Given the description of an element on the screen output the (x, y) to click on. 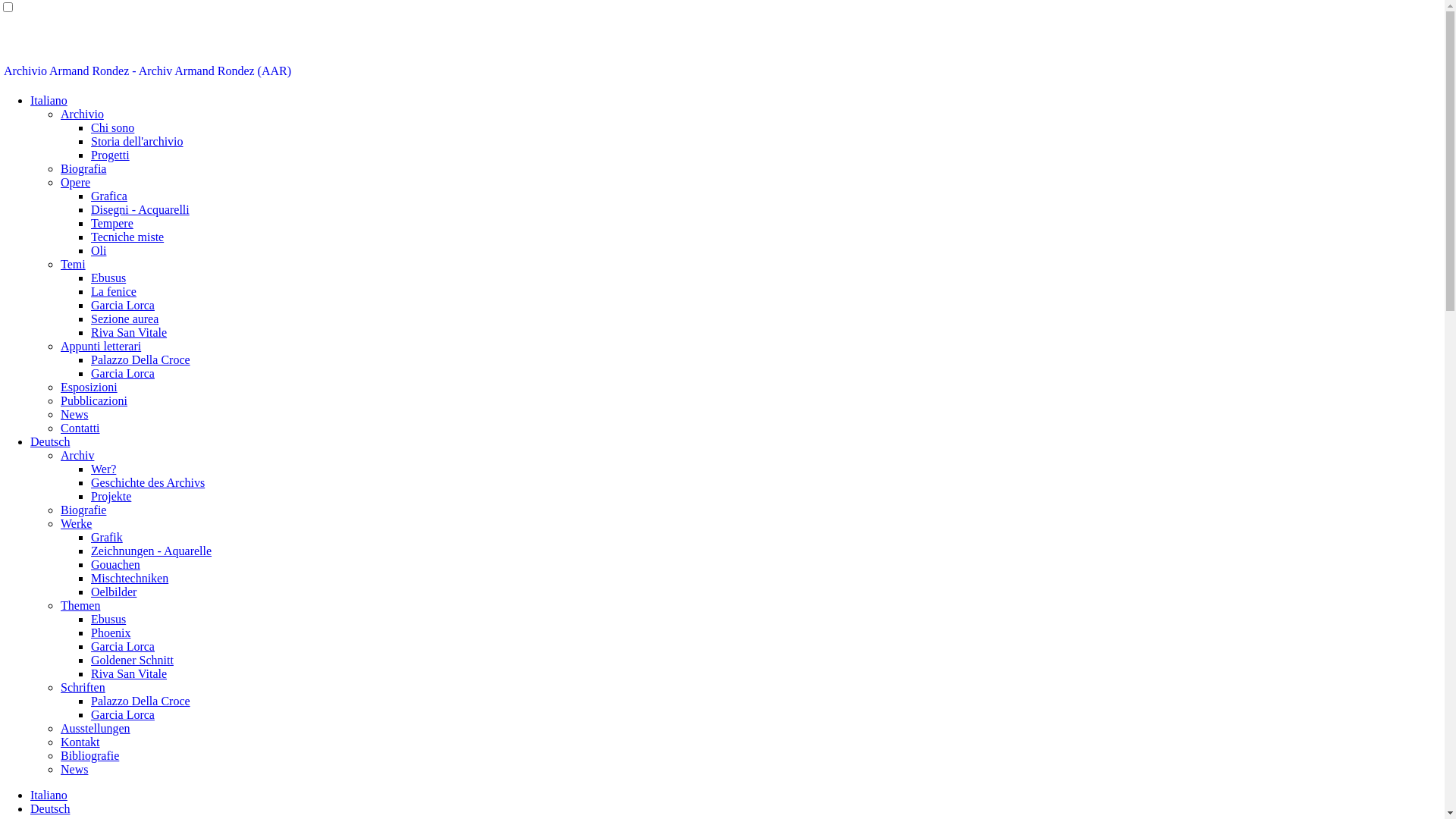
Garcia Lorca Element type: text (122, 714)
Garcia Lorca Element type: text (122, 373)
Ebusus Element type: text (108, 277)
Geschichte des Archivs Element type: text (147, 482)
Palazzo Della Croce Element type: text (140, 700)
Riva San Vitale Element type: text (128, 673)
Sezione aurea Element type: text (124, 318)
Phoenix Element type: text (110, 632)
Oelbilder Element type: text (113, 591)
Progetti Element type: text (110, 154)
Zeichnungen - Aquarelle Element type: text (151, 550)
Opere Element type: text (75, 181)
Deutsch Element type: text (49, 441)
Projekte Element type: text (111, 495)
Italiano Element type: text (48, 100)
Appunti letterari Element type: text (100, 345)
Kontakt Element type: text (80, 741)
Grafik Element type: text (106, 536)
Storia dell'archivio Element type: text (137, 140)
Mischtechniken Element type: text (129, 577)
Tecniche miste Element type: text (127, 236)
Contatti Element type: text (80, 427)
Tempere Element type: text (112, 222)
Bibliografie Element type: text (89, 755)
Goldener Schnitt Element type: text (132, 659)
Deutsch Element type: text (49, 808)
La fenice Element type: text (113, 291)
News Element type: text (73, 768)
Italiano Element type: text (48, 794)
Schriften Element type: text (82, 686)
Biografia Element type: text (83, 168)
Palazzo Della Croce Element type: text (140, 359)
Gouachen Element type: text (115, 564)
Garcia Lorca Element type: text (122, 646)
Esposizioni Element type: text (88, 386)
Archivio Element type: text (81, 113)
Ebusus Element type: text (108, 618)
Wer? Element type: text (103, 468)
Ausstellungen Element type: text (95, 727)
Oli Element type: text (98, 250)
Temi Element type: text (72, 263)
Themen Element type: text (80, 605)
Riva San Vitale Element type: text (128, 332)
Chi sono Element type: text (112, 127)
Werke Element type: text (75, 523)
Disegni - Acquarelli Element type: text (140, 209)
Pubblicazioni Element type: text (93, 400)
Archivio Armand Rondez - Archiv Armand Rondez (AAR) Element type: text (147, 70)
Archiv Element type: text (77, 454)
Grafica Element type: text (109, 195)
News Element type: text (73, 413)
Garcia Lorca Element type: text (122, 304)
Biografie Element type: text (83, 509)
